Given the description of an element on the screen output the (x, y) to click on. 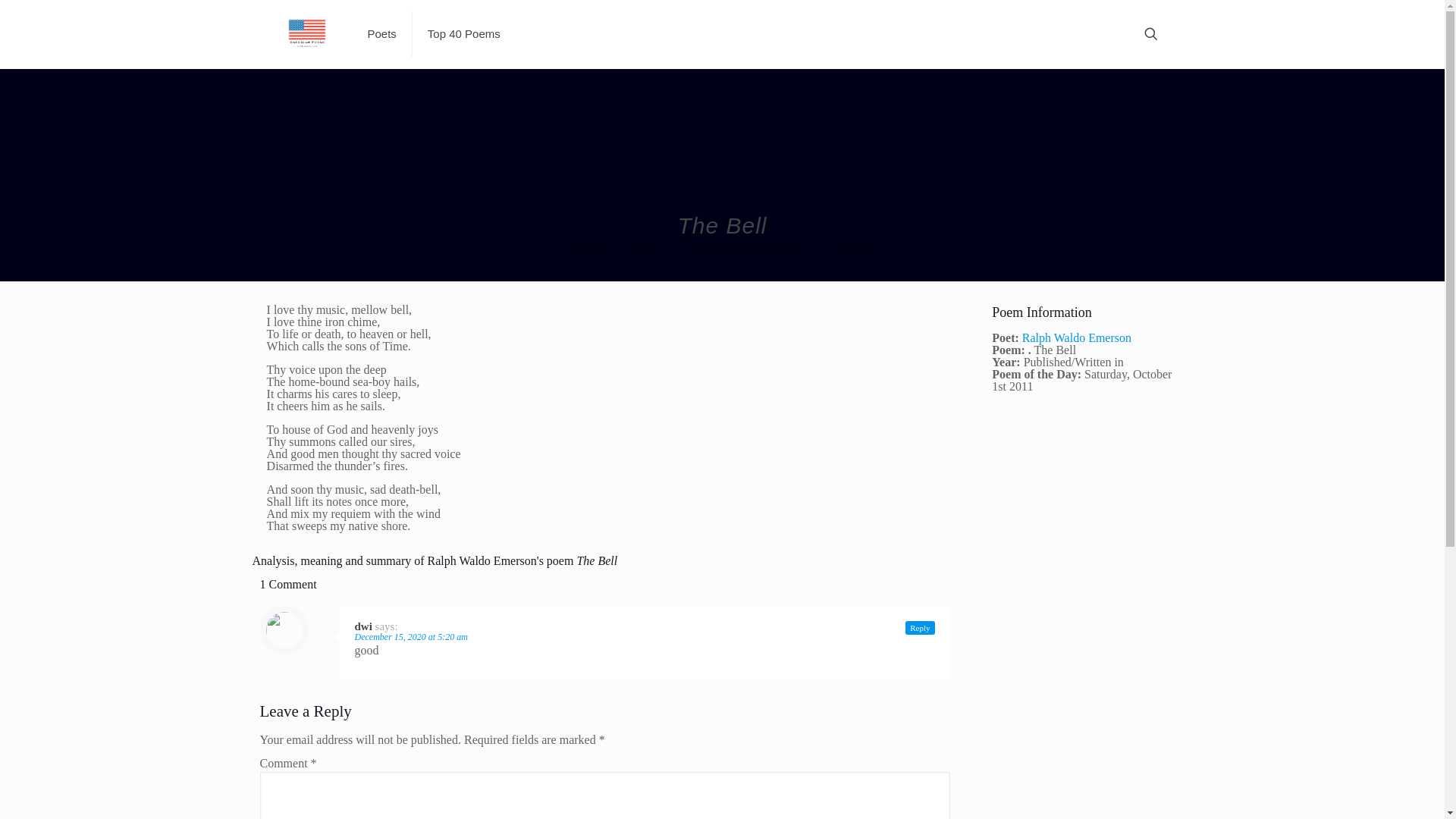
Ralph Waldo Emerson (744, 251)
Home (587, 251)
Reply (919, 627)
December 15, 2020 at 5:20 am (411, 636)
The Bell (850, 251)
Poets (646, 251)
Top 40 Poems (463, 33)
Ralph Waldo Emerson (1076, 337)
